Given the description of an element on the screen output the (x, y) to click on. 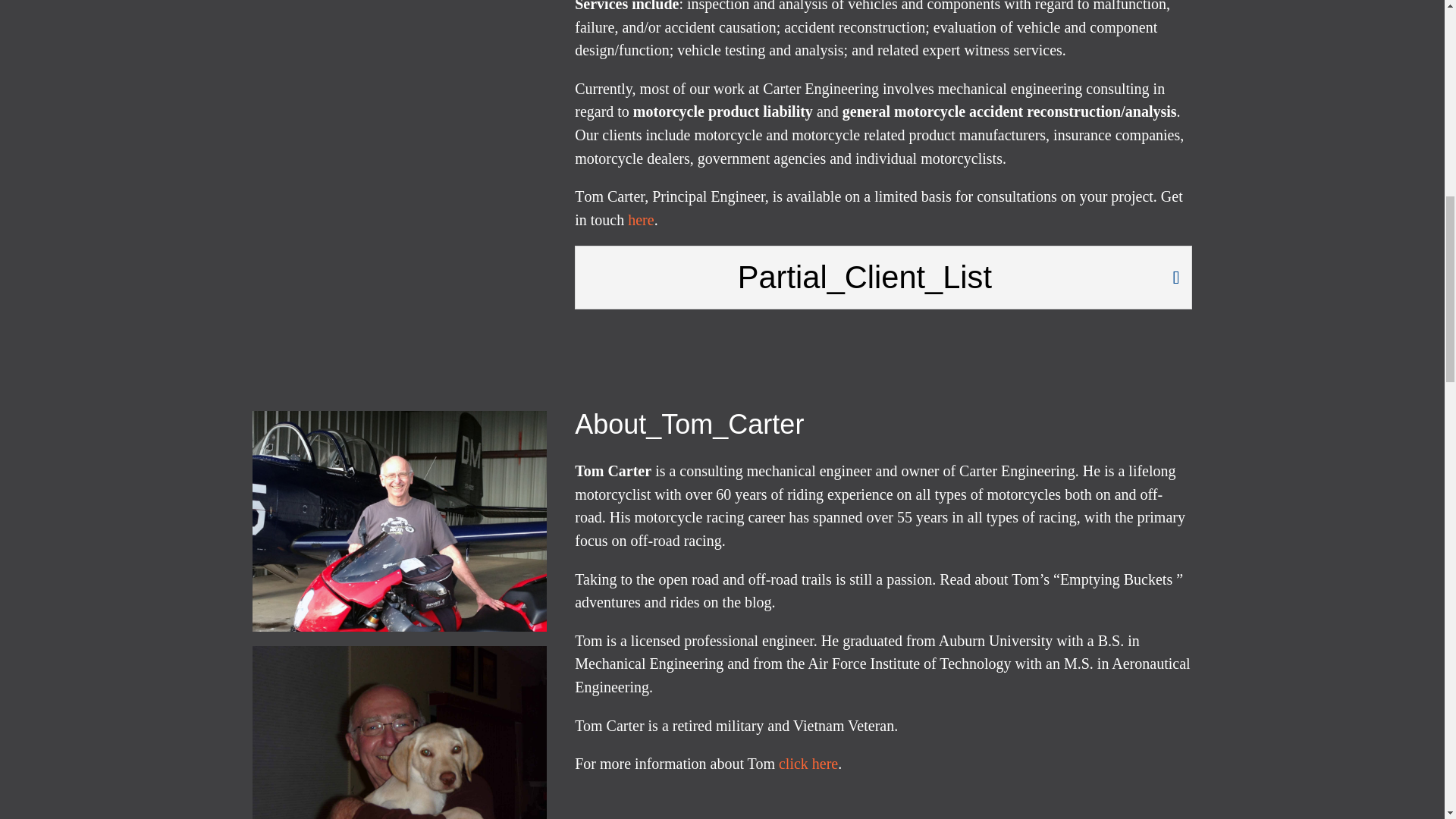
click here (808, 763)
here (640, 219)
